Given the description of an element on the screen output the (x, y) to click on. 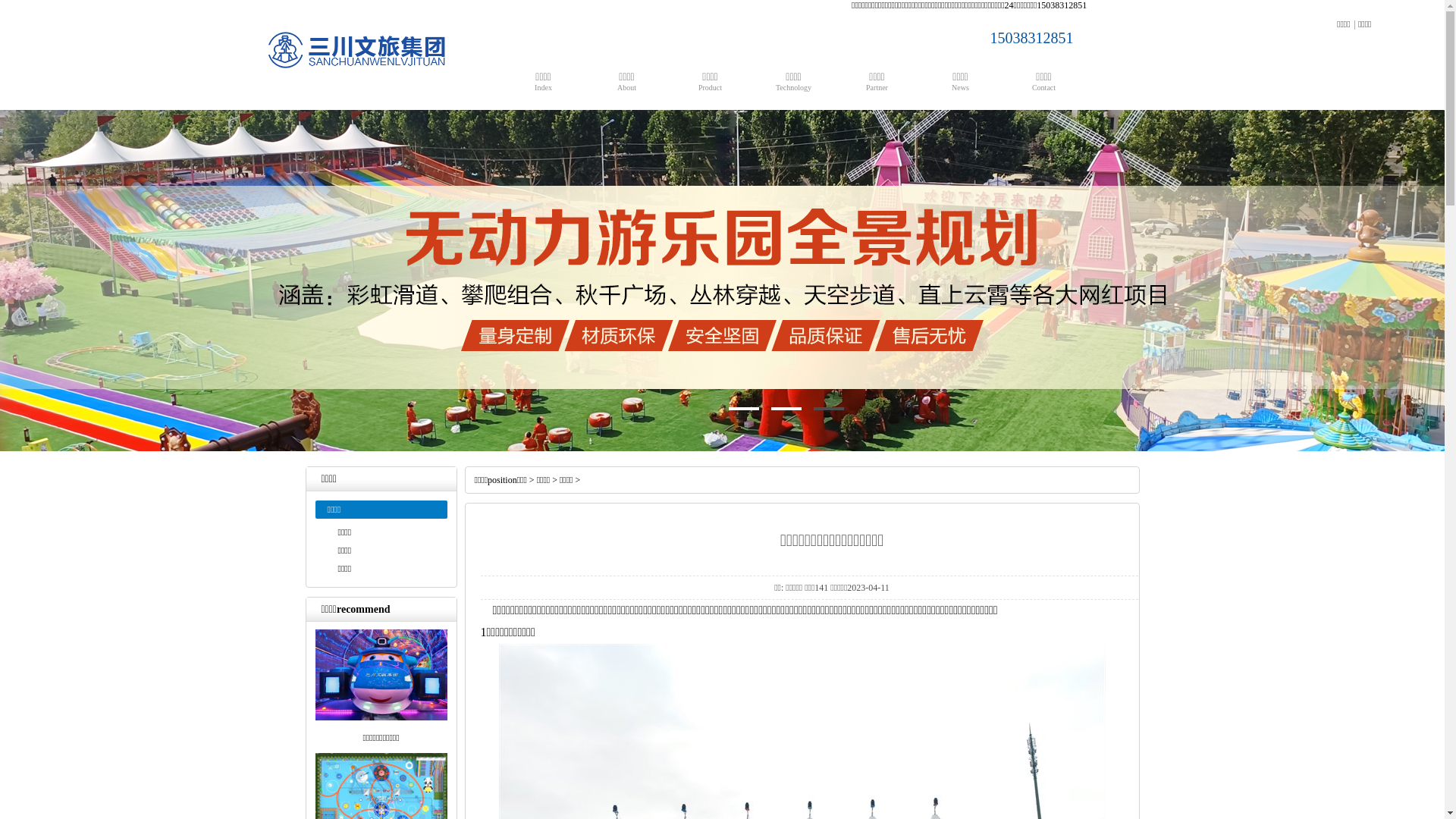
15038312851 Element type: text (1012, 38)
